Given the description of an element on the screen output the (x, y) to click on. 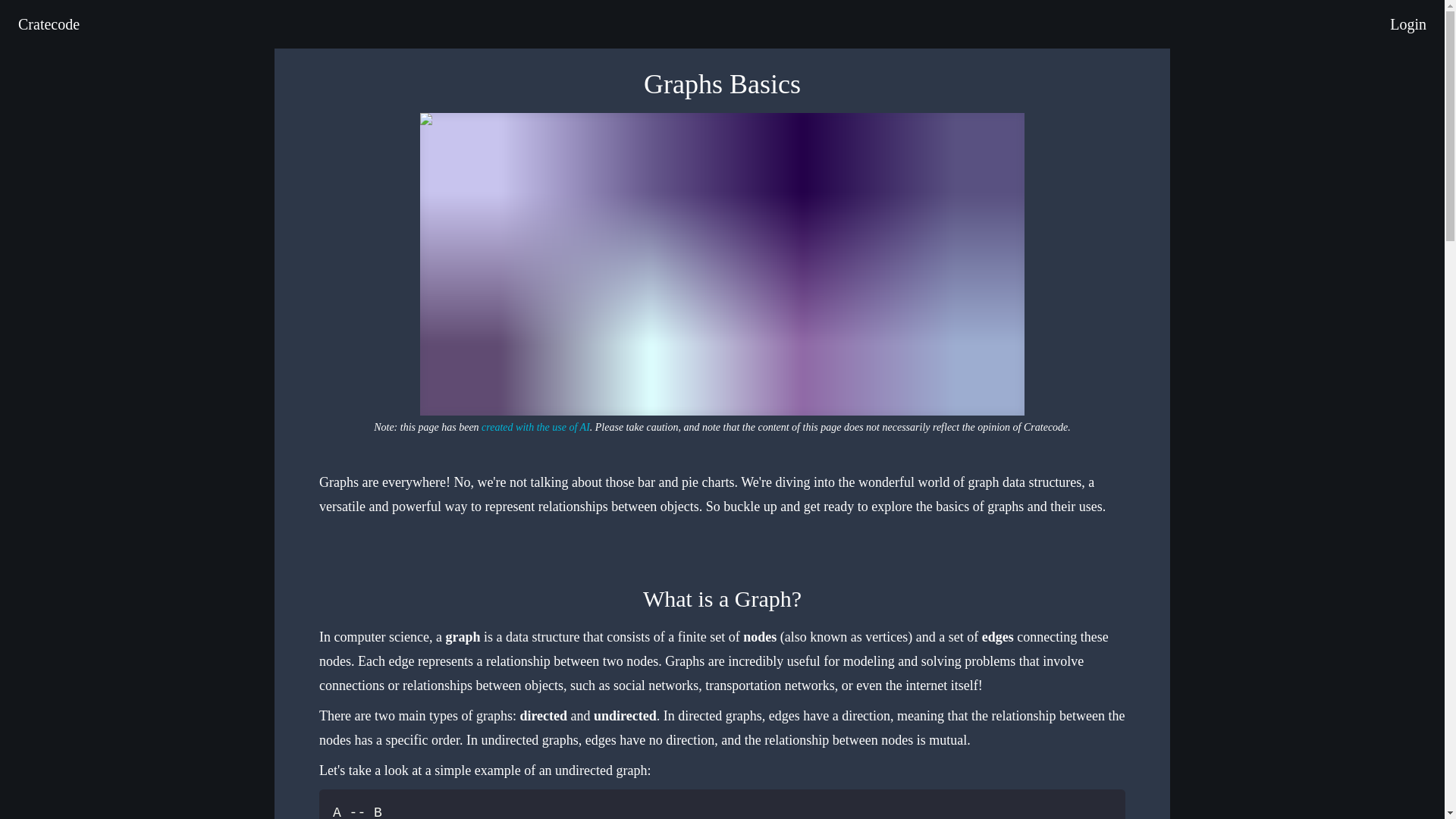
Cratecode (48, 24)
Login (1408, 24)
created with the use of AI (535, 427)
